Given the description of an element on the screen output the (x, y) to click on. 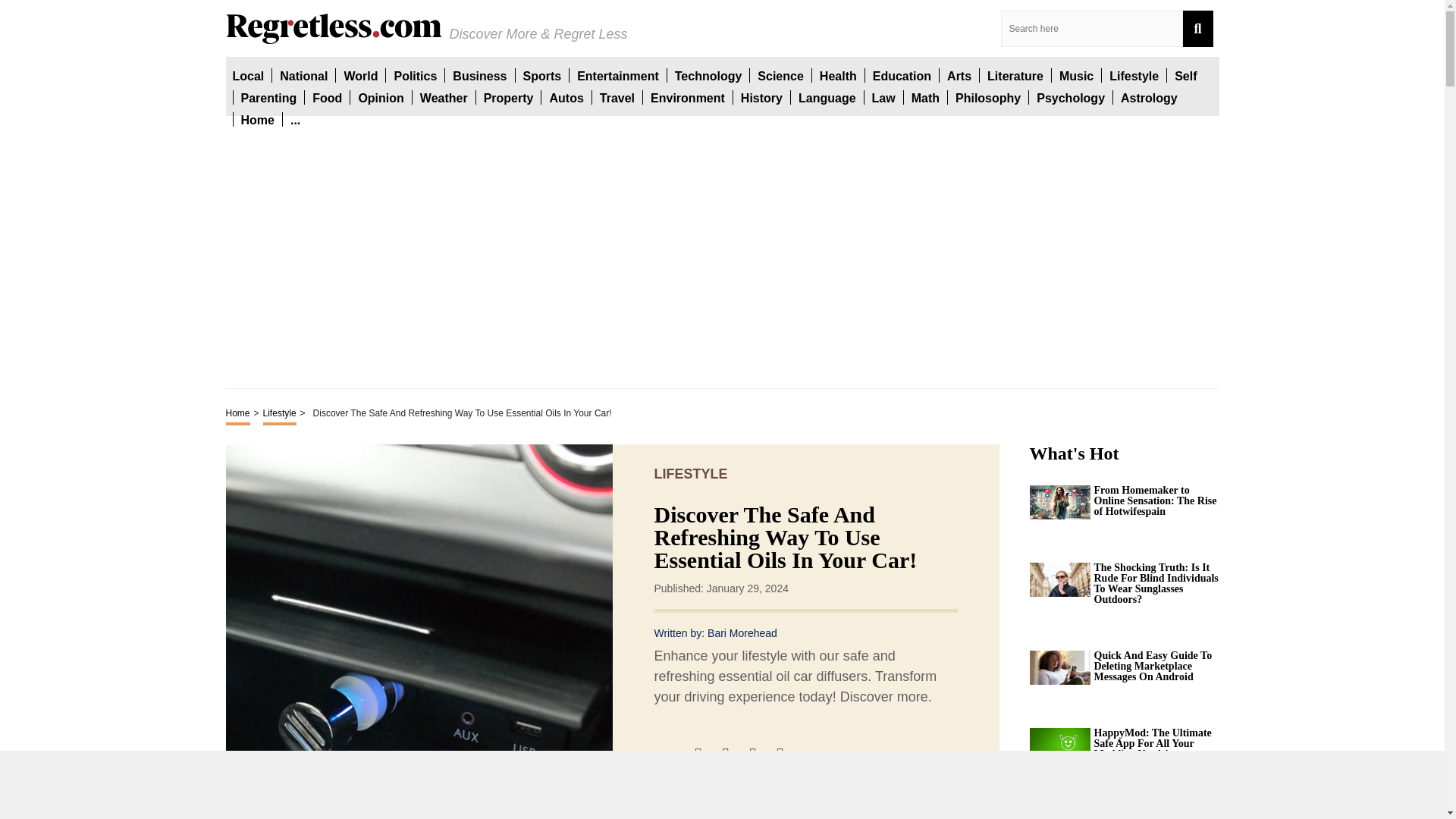
Share on WhatsApp (786, 755)
Philosophy (987, 97)
Local (247, 74)
Autos (565, 97)
National (303, 74)
World (360, 74)
Math (925, 97)
Parenting (269, 97)
Technology (708, 74)
Language (826, 97)
Share on Pinterest (759, 755)
Self (1185, 74)
Share on Facebook (705, 755)
Property (508, 97)
